Given the description of an element on the screen output the (x, y) to click on. 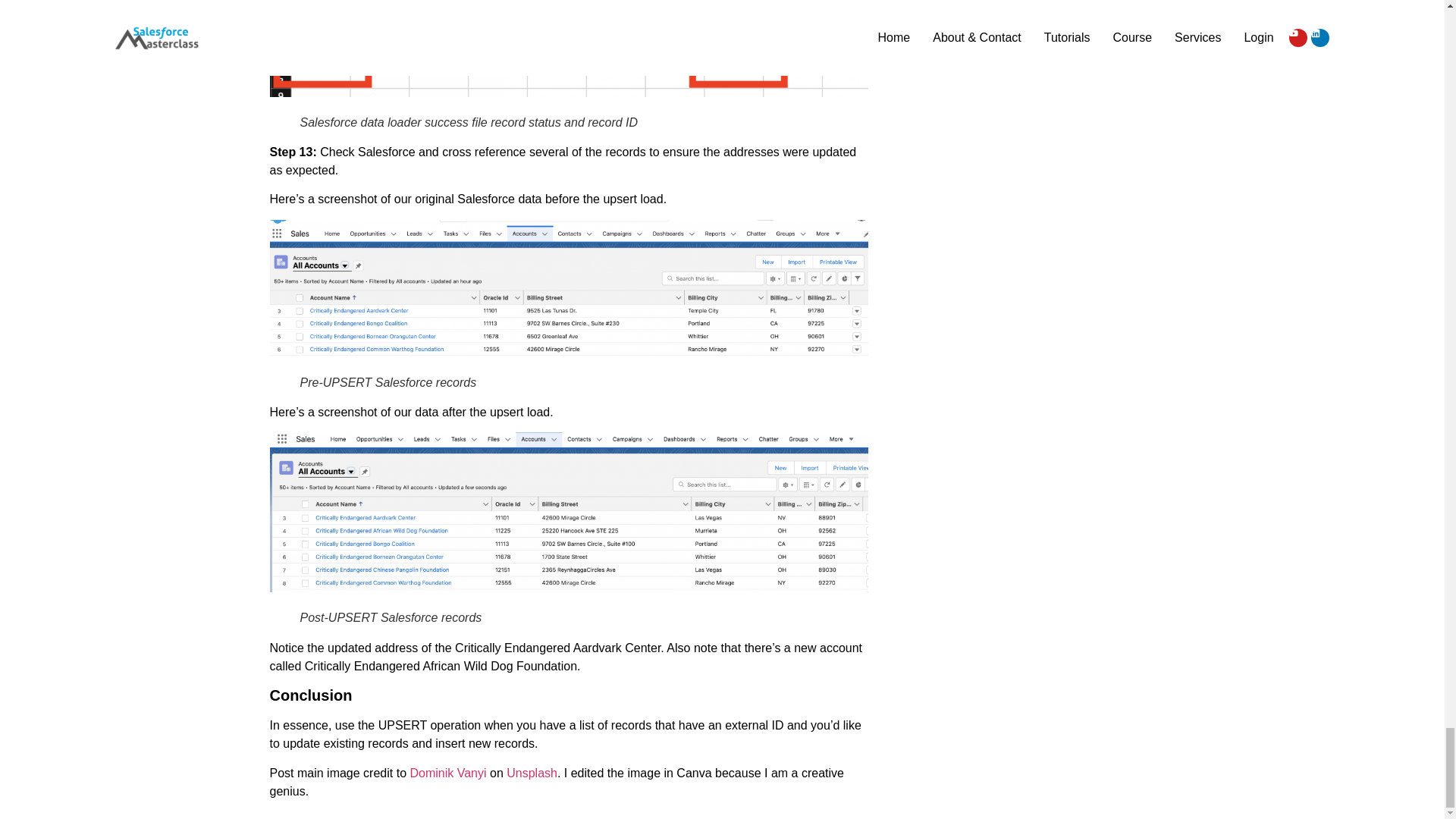
Dominik Vanyi (447, 772)
Unsplash (531, 772)
